Given the description of an element on the screen output the (x, y) to click on. 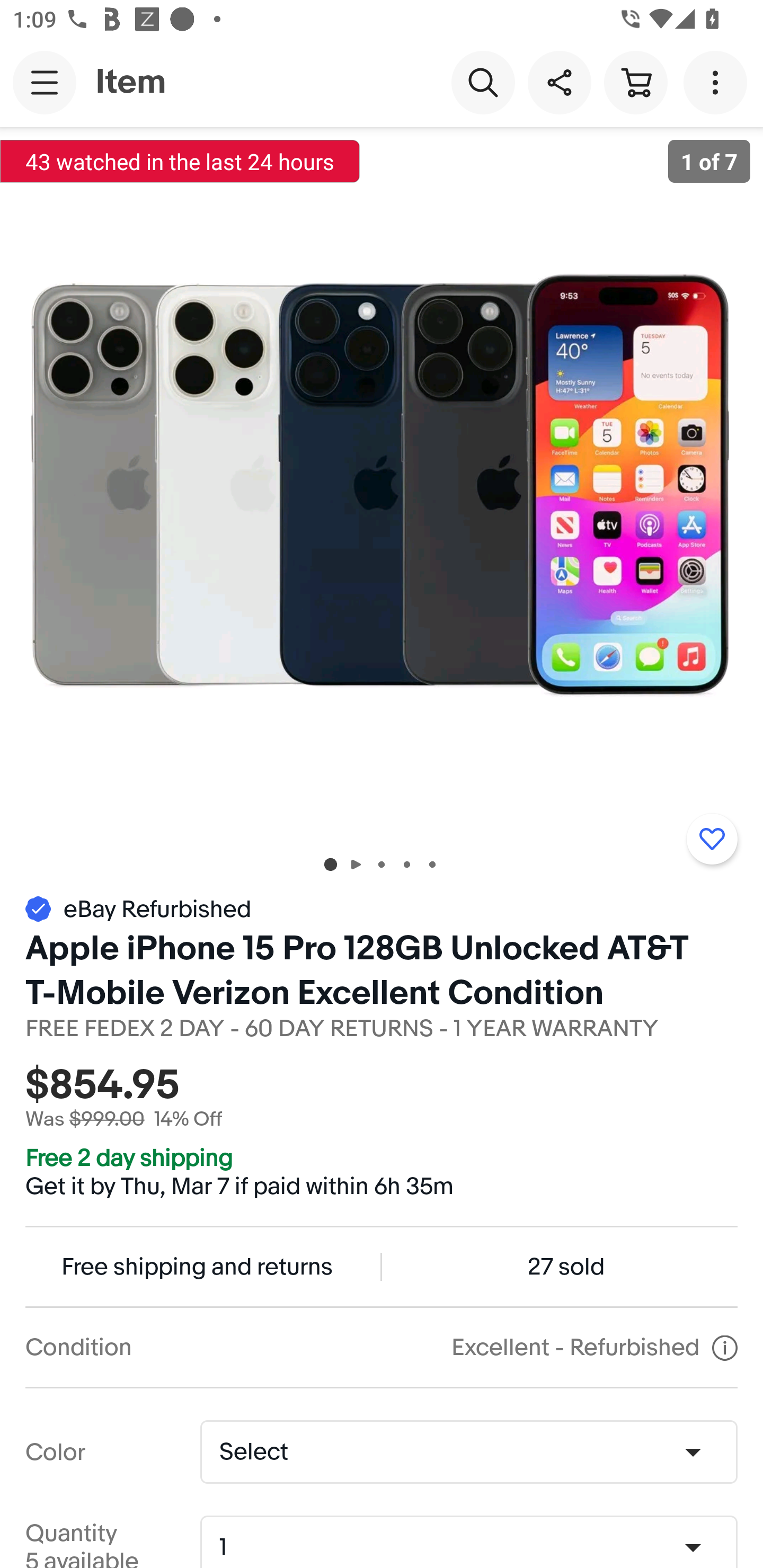
Main navigation, open (44, 82)
Search (482, 81)
Share this item (559, 81)
Cart button shopping cart (635, 81)
More options (718, 81)
Item image 1 of 7 (381, 482)
43 watched in the last 24 hours (180, 161)
Add to watchlist (711, 838)
Color,No selection Select (468, 1451)
Quantity,1,5 available 1 (474, 1547)
